Given the description of an element on the screen output the (x, y) to click on. 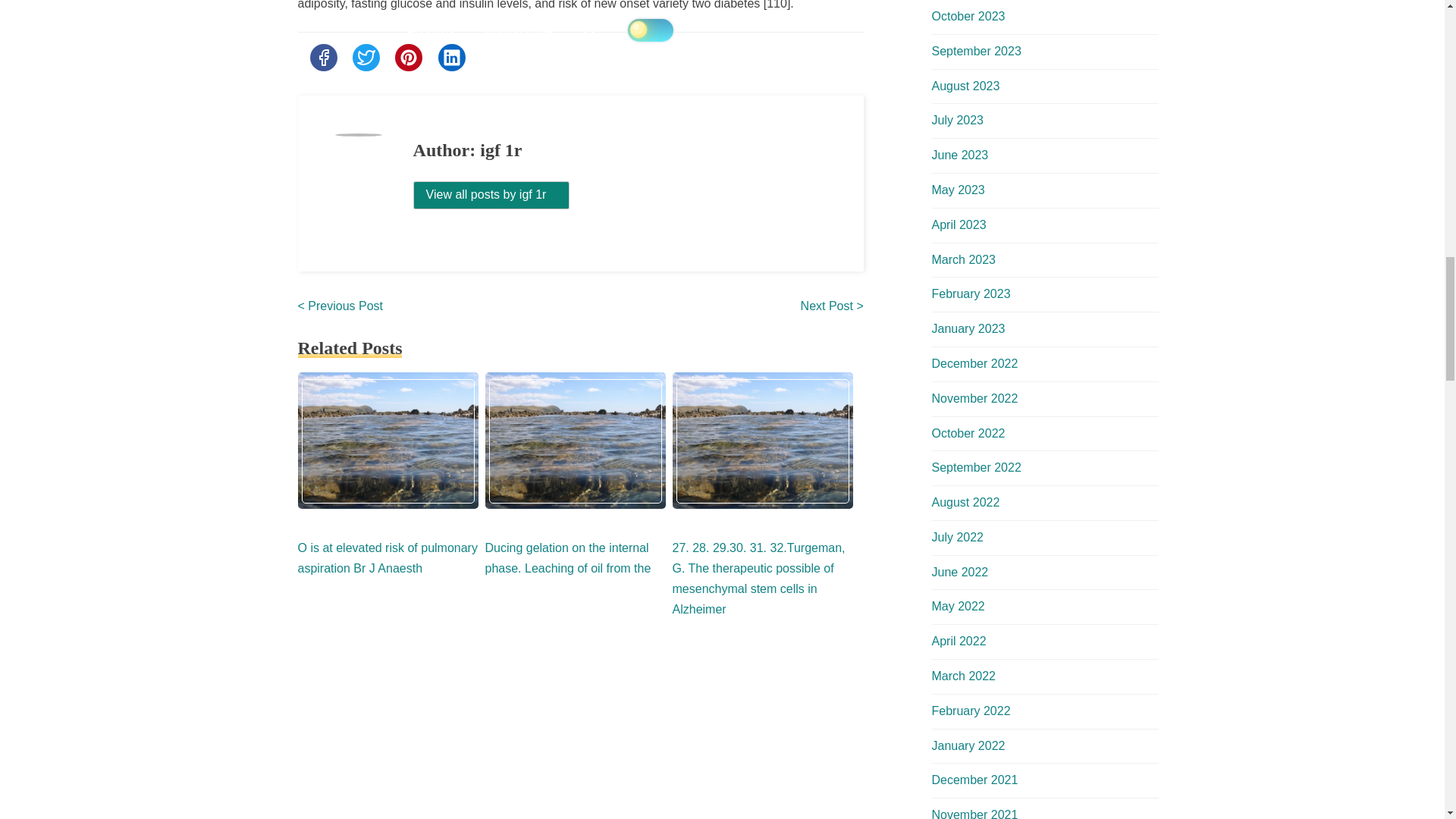
View all posts by igf 1r (491, 194)
Share this post on Twitter (366, 57)
Share this post on Pinterest (408, 57)
Share this post on Facebook (322, 57)
O is at elevated risk of pulmonary aspiration Br J Anaesth (387, 557)
Share this post on Linkedin (451, 57)
View all posts by igf 1r (491, 194)
